Given the description of an element on the screen output the (x, y) to click on. 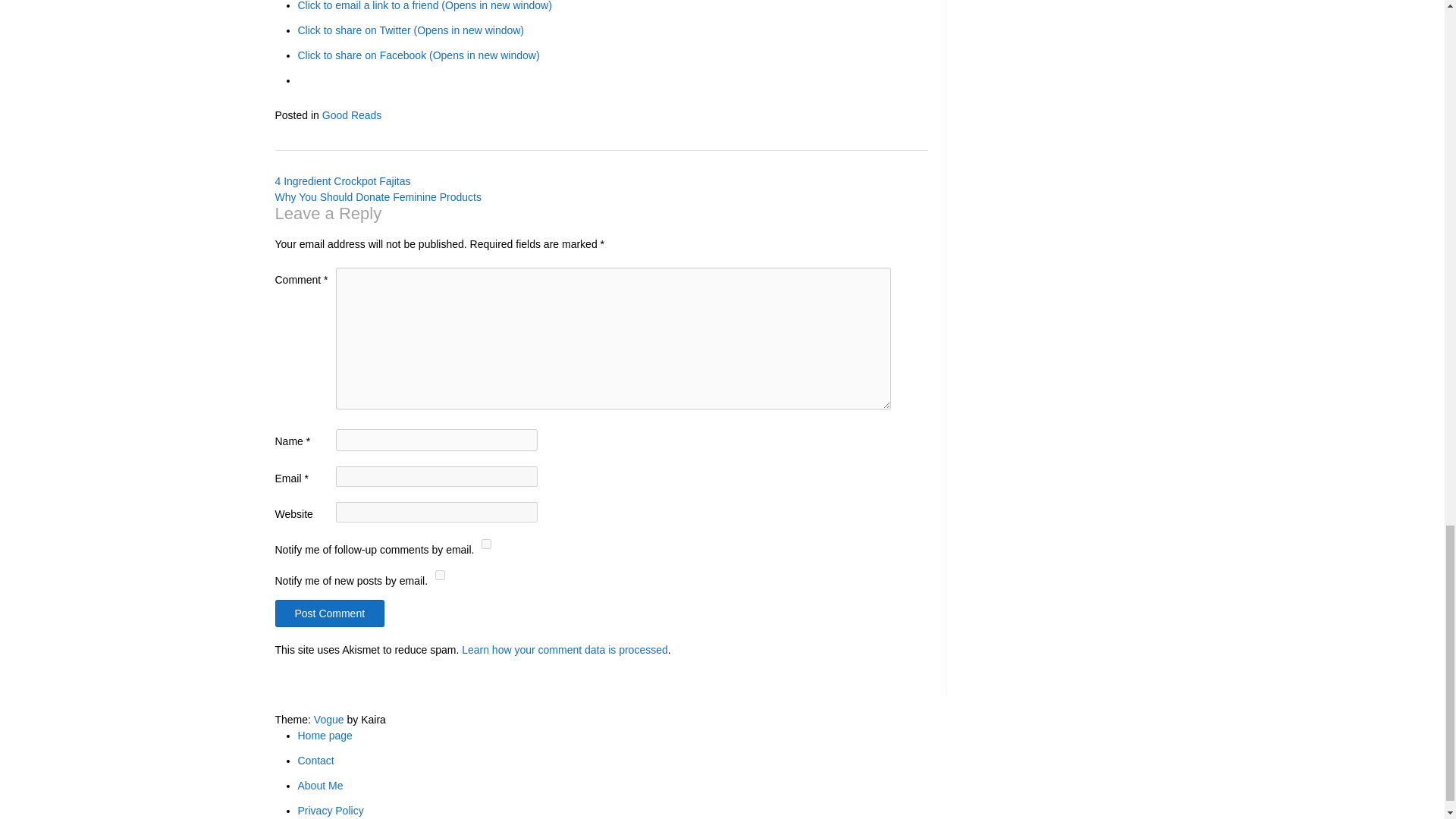
Learn how your comment data is processed (564, 649)
Click to share on Twitter (410, 30)
Click to share on Facebook (417, 55)
Why You Should Donate Feminine Products (377, 196)
Post Comment (329, 613)
subscribe (440, 574)
4 Ingredient Crockpot Fajitas (342, 181)
Click to email a link to a friend (424, 5)
Post Comment (329, 613)
subscribe (486, 543)
Good Reads (351, 114)
